Given the description of an element on the screen output the (x, y) to click on. 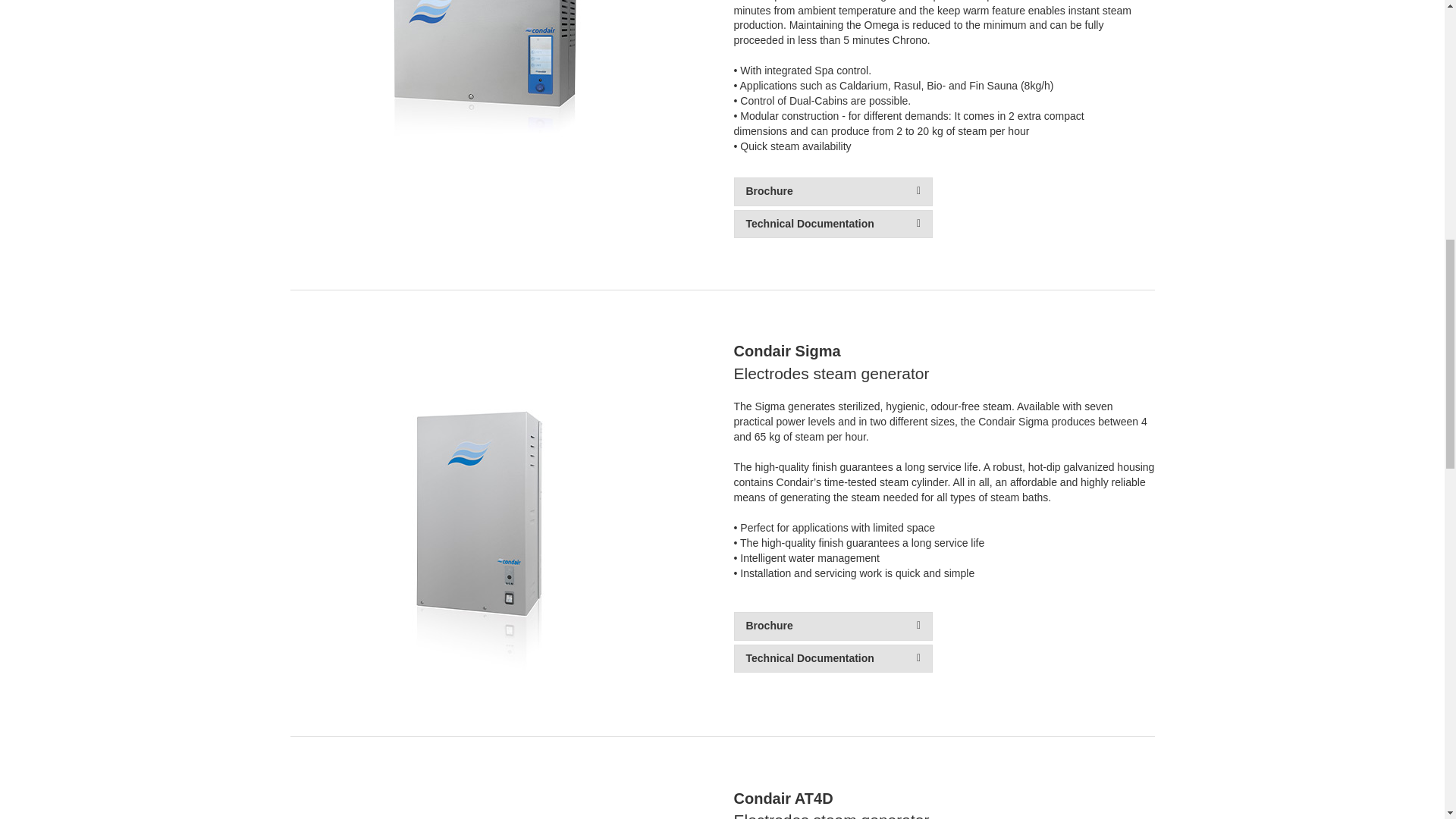
Condair DL - Adiabate Befeuchtung (472, 807)
Condair Omega (472, 106)
